Given the description of an element on the screen output the (x, y) to click on. 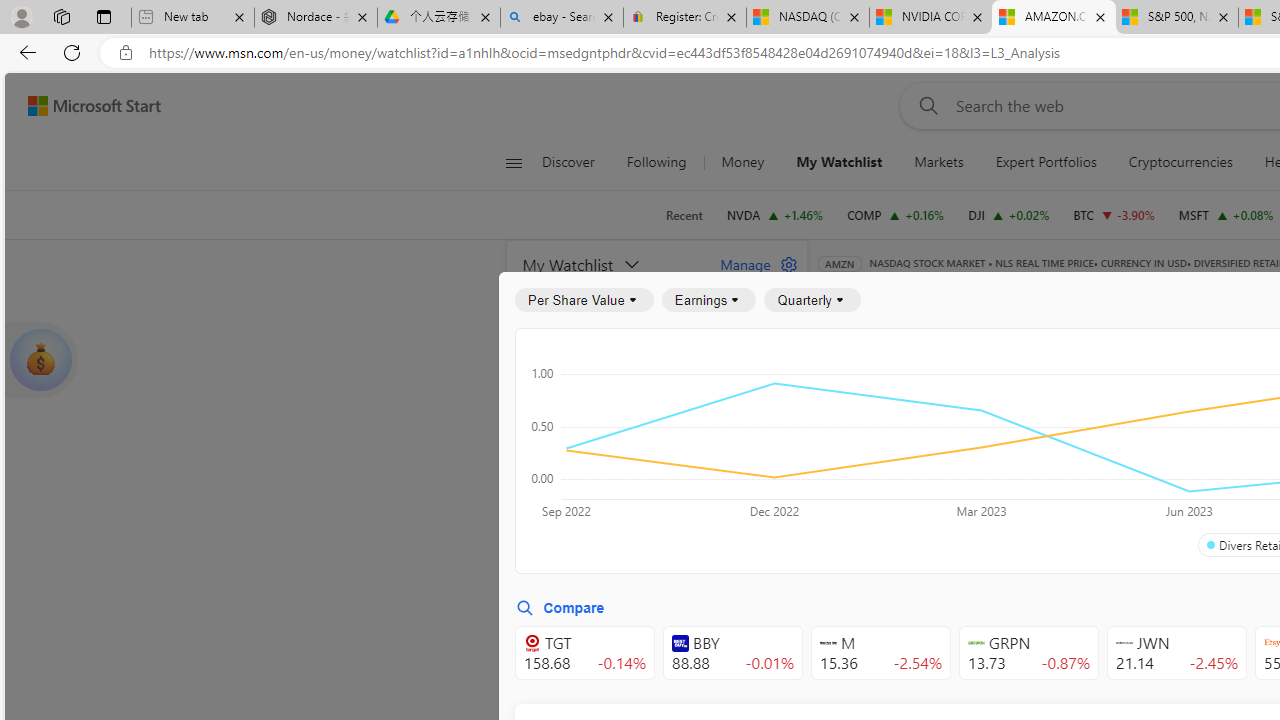
Growth Rates (1058, 445)
Cryptocurrencies (1179, 162)
My Watchlist (838, 162)
Per Share Values (934, 445)
